Given the description of an element on the screen output the (x, y) to click on. 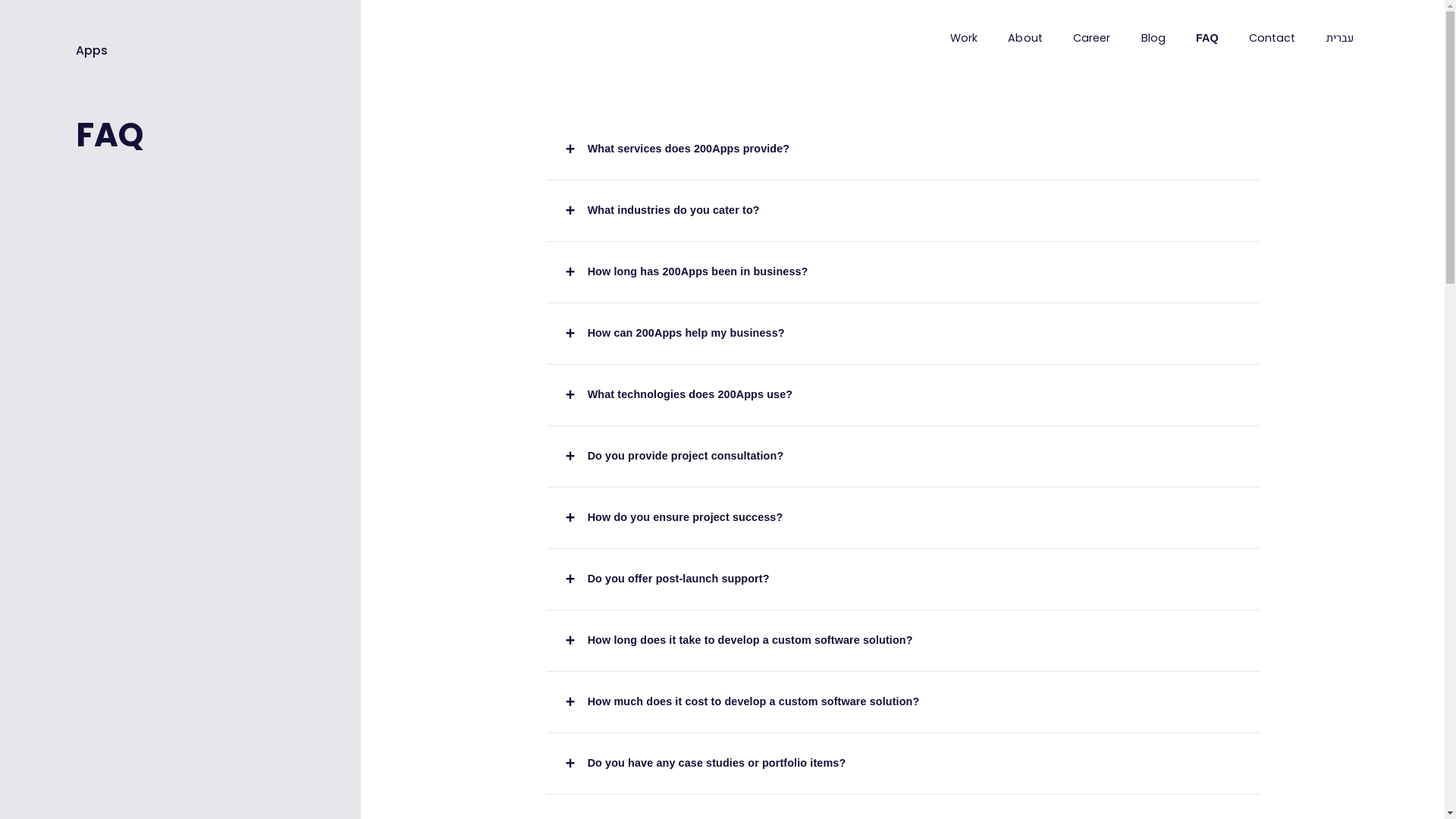
Apps Element type: text (91, 40)
Career Element type: text (1091, 38)
Blog Element type: text (1152, 38)
FAQ Element type: text (1206, 38)
About Element type: text (1024, 38)
Work Element type: text (963, 38)
Contact Element type: text (1272, 38)
